Given the description of an element on the screen output the (x, y) to click on. 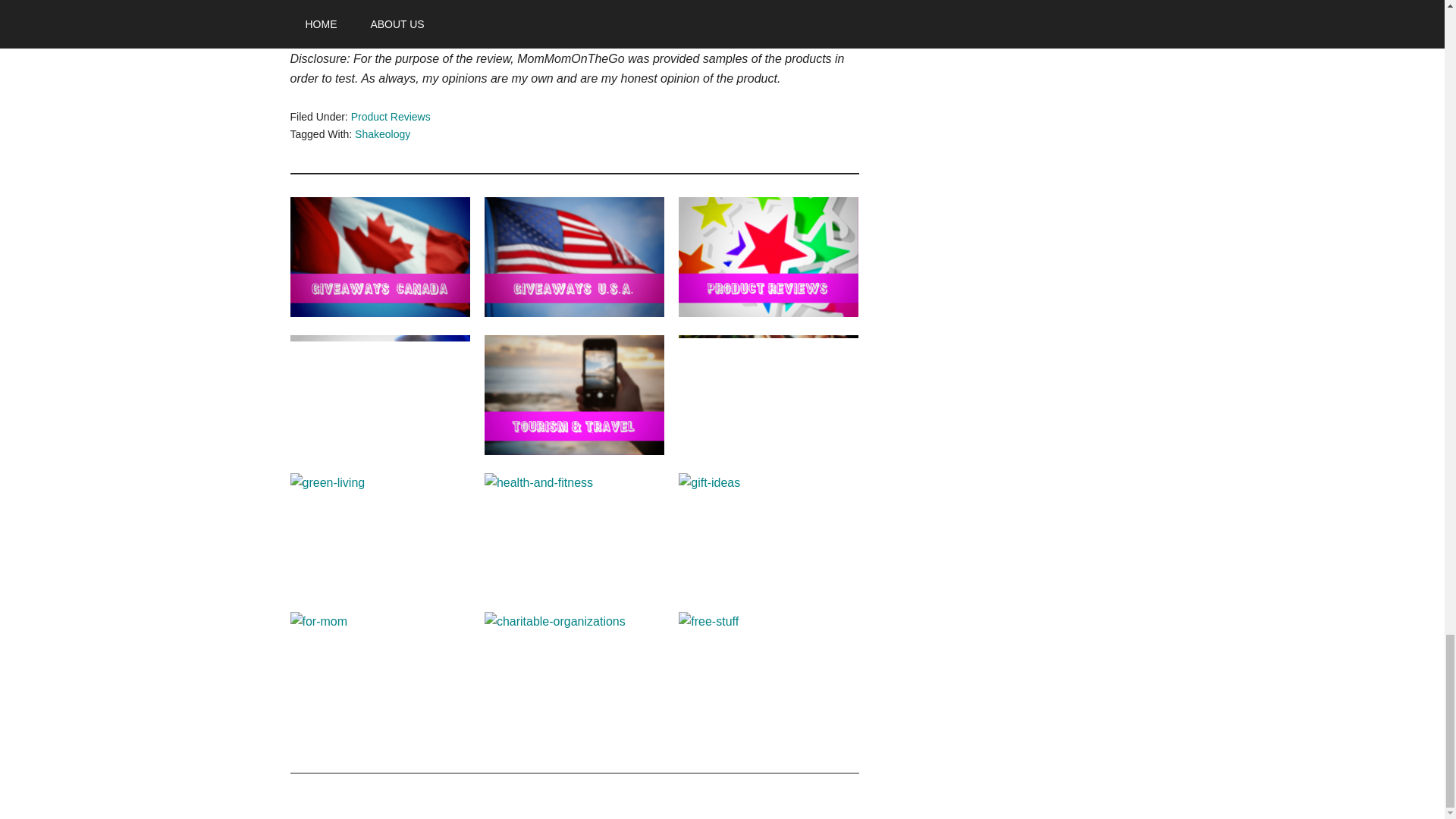
a Rafflecopter giveaway (574, 5)
Shakeology (382, 133)
Product Reviews (390, 116)
